Given the description of an element on the screen output the (x, y) to click on. 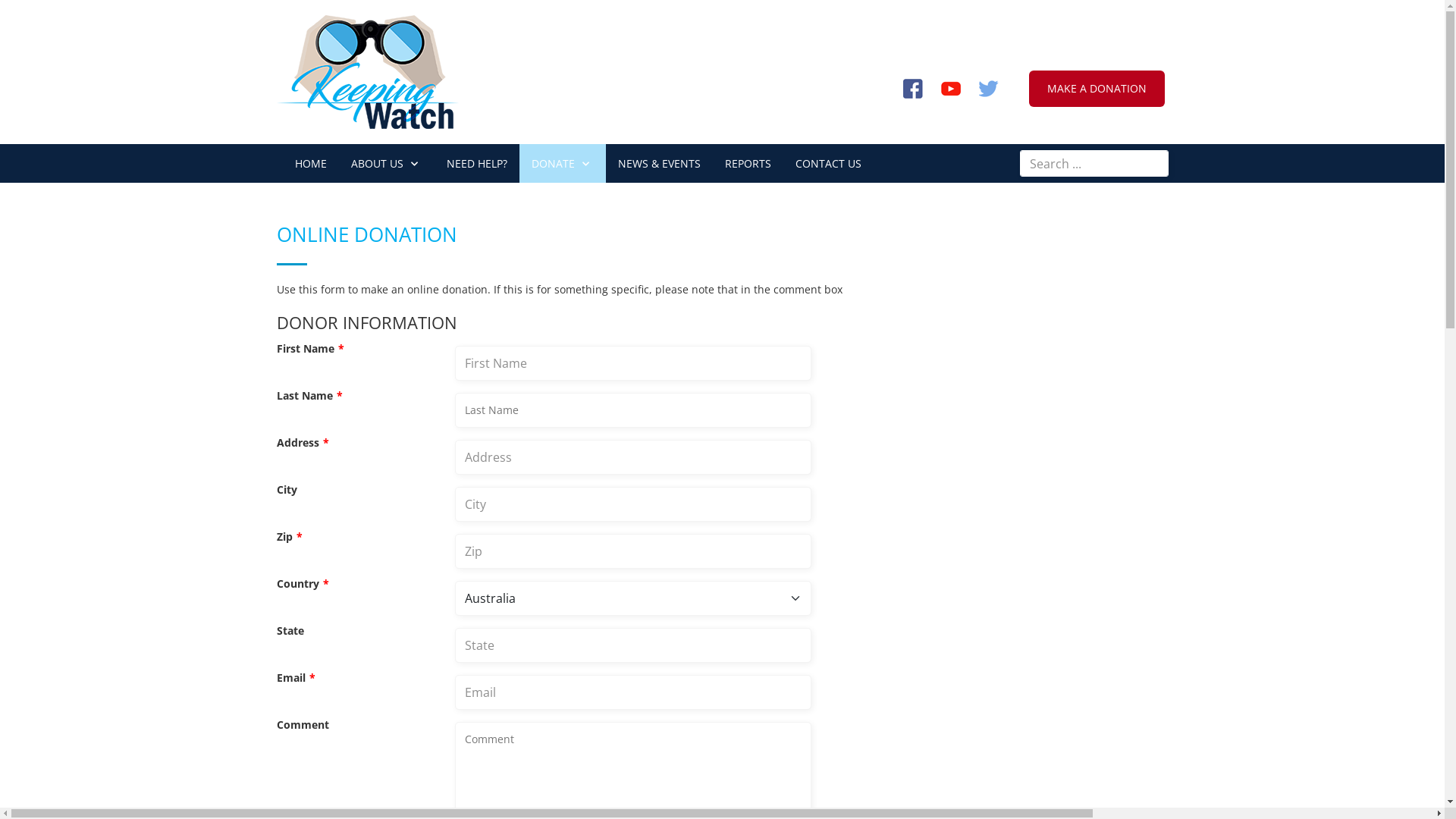
ABOUT US Element type: text (385, 163)
Phone: (02) 6192 7744 Element type: text (1097, 16)
HOME Element type: text (310, 163)
REPORTS Element type: text (747, 163)
MAKE A DONATION Element type: text (1096, 88)
CONTACT US Element type: text (827, 163)
DONATE Element type: text (561, 163)
NEWS & EVENTS Element type: text (658, 163)
NEED HELP? Element type: text (475, 163)
